Given the description of an element on the screen output the (x, y) to click on. 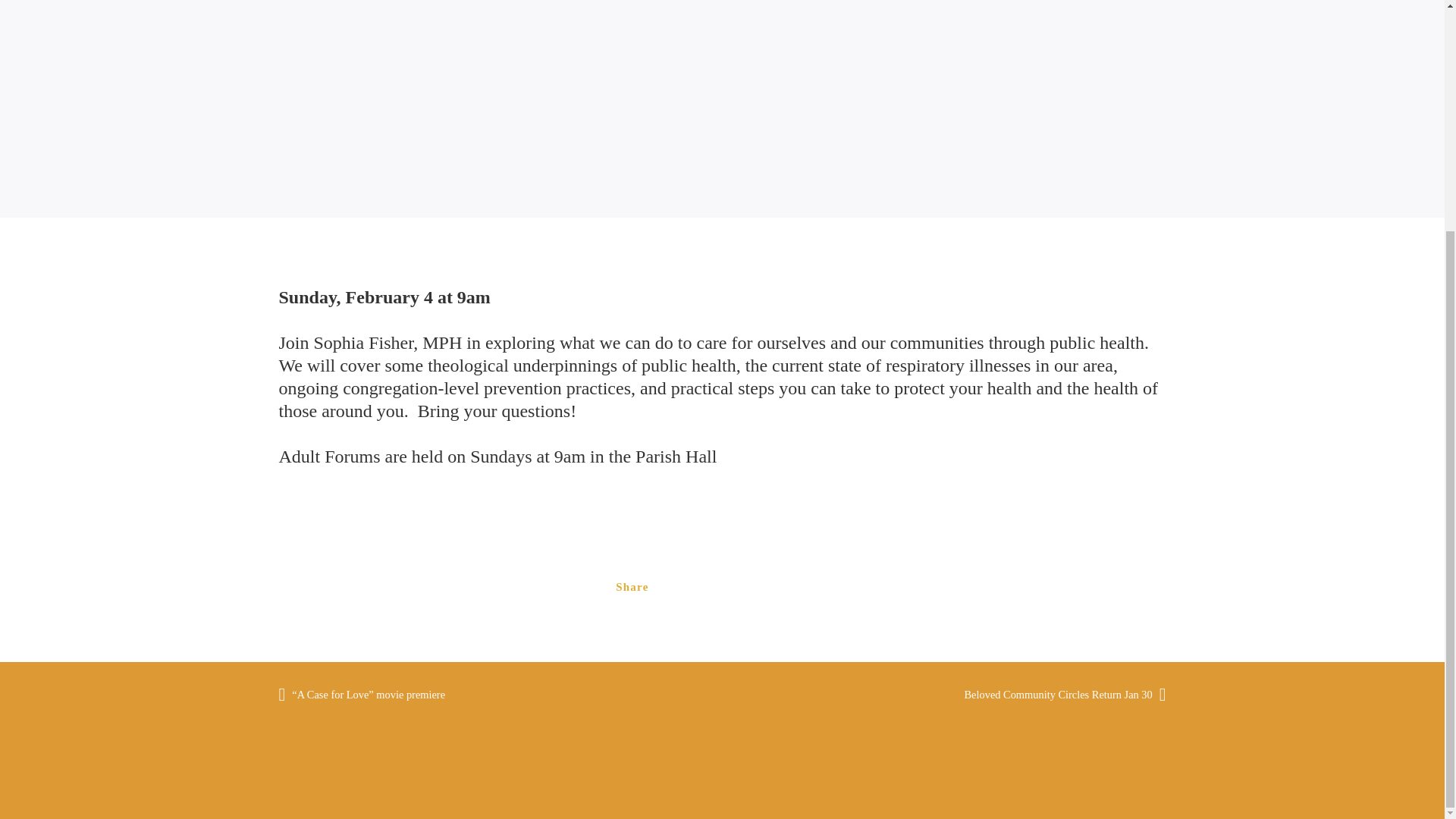
Beloved Community Circles Return Jan 30 (1054, 694)
Twitter (807, 587)
Facebook (746, 587)
E-Mail (686, 587)
